Given the description of an element on the screen output the (x, y) to click on. 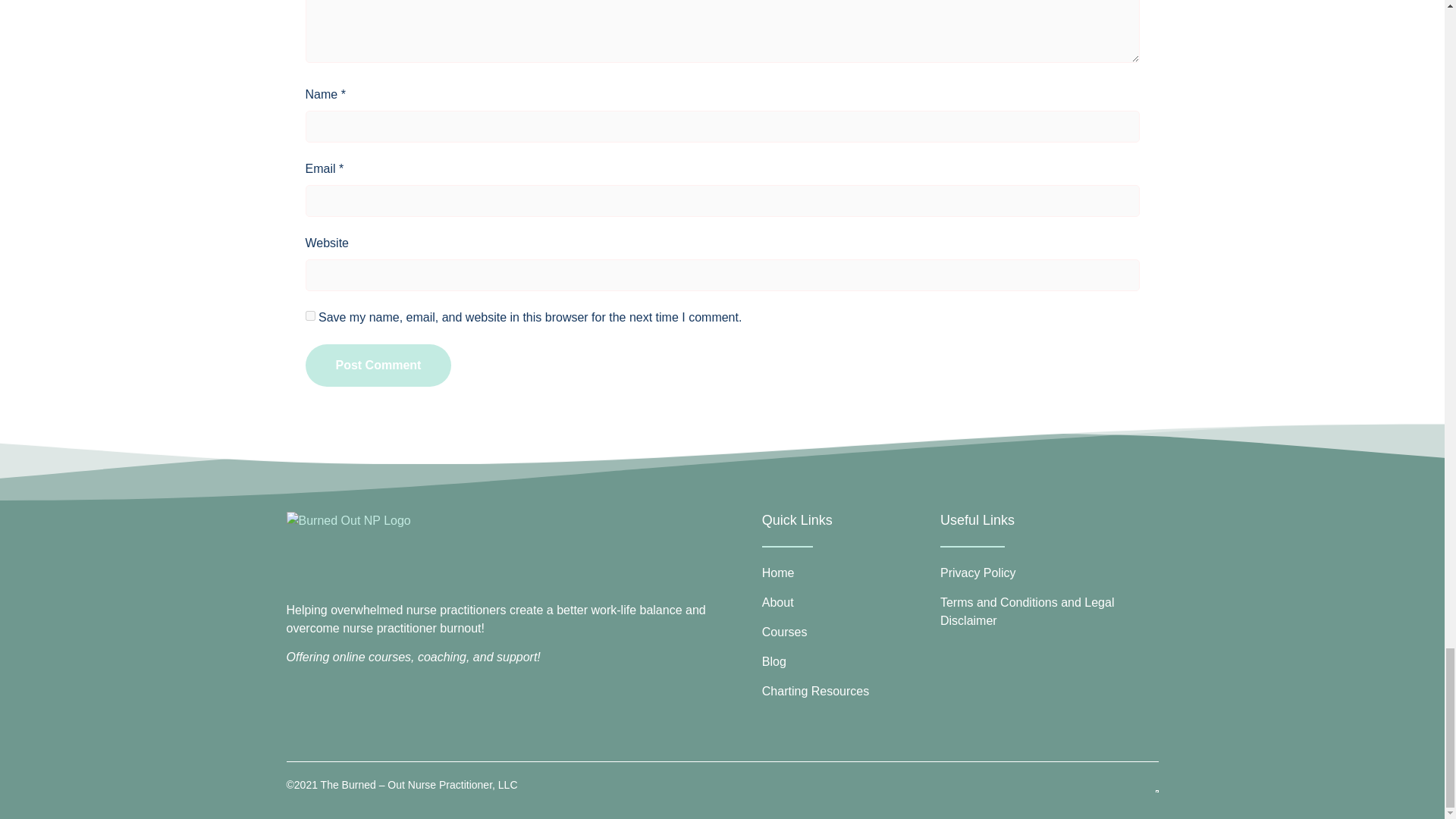
Blog (847, 661)
Home (847, 573)
Privacy Policy (1047, 573)
Charting Resources (847, 691)
Terms and Conditions and Legal Disclaimer (1047, 611)
Courses (847, 632)
About (847, 602)
Post Comment (377, 364)
Post Comment (377, 364)
yes (309, 316)
